Given the description of an element on the screen output the (x, y) to click on. 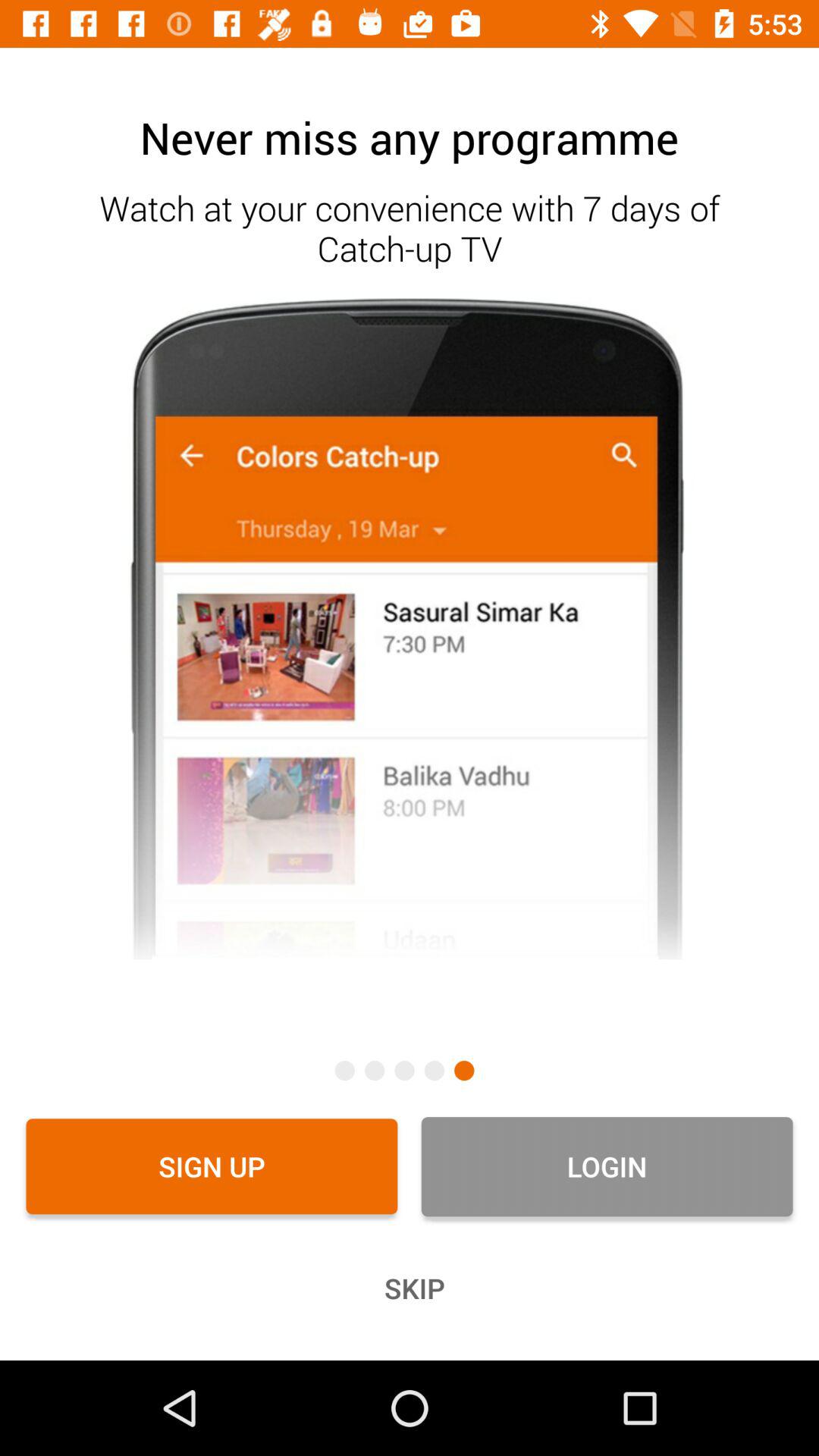
choose icon above skip (211, 1166)
